Given the description of an element on the screen output the (x, y) to click on. 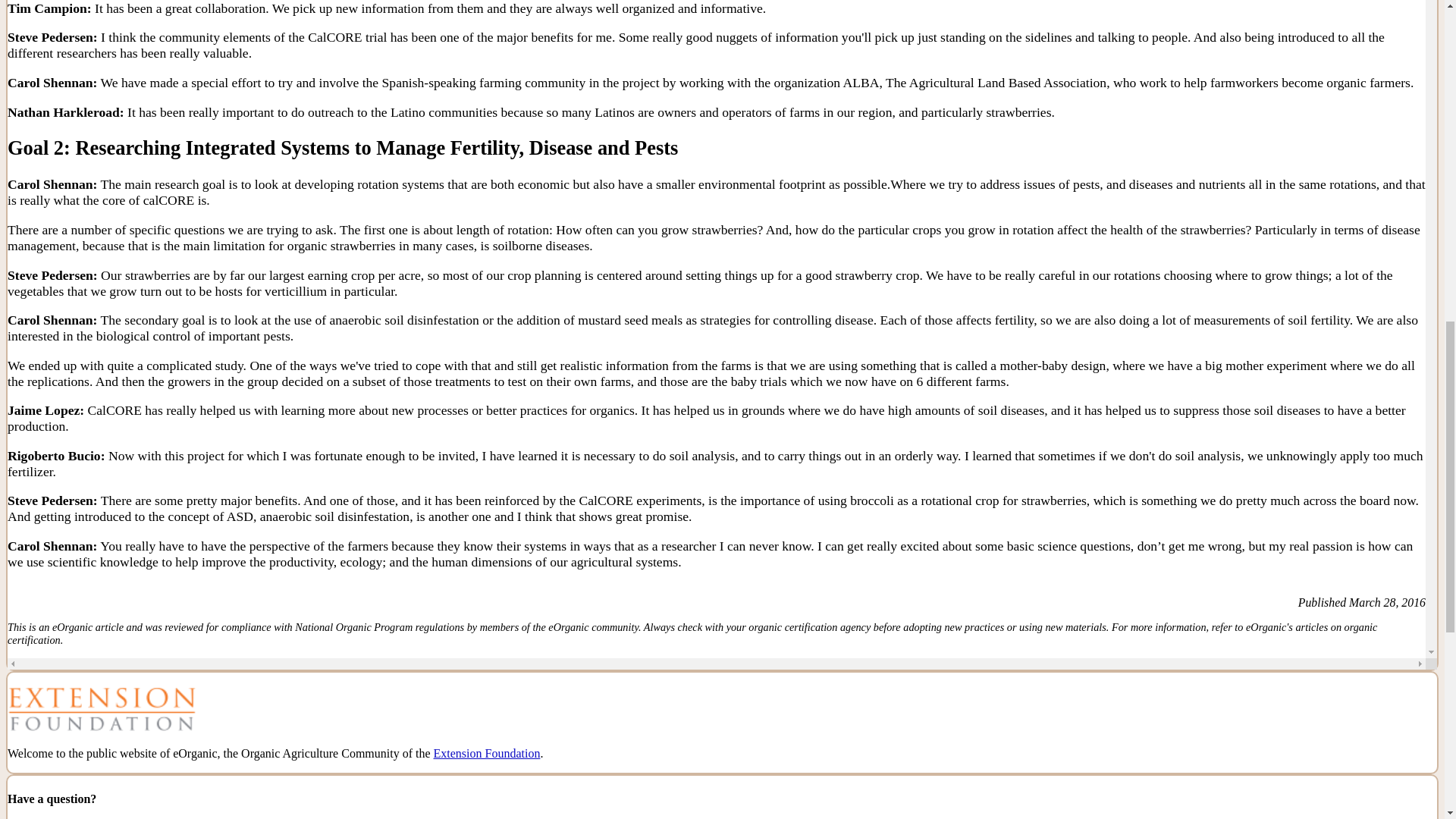
Extension Foundation (486, 753)
